Given the description of an element on the screen output the (x, y) to click on. 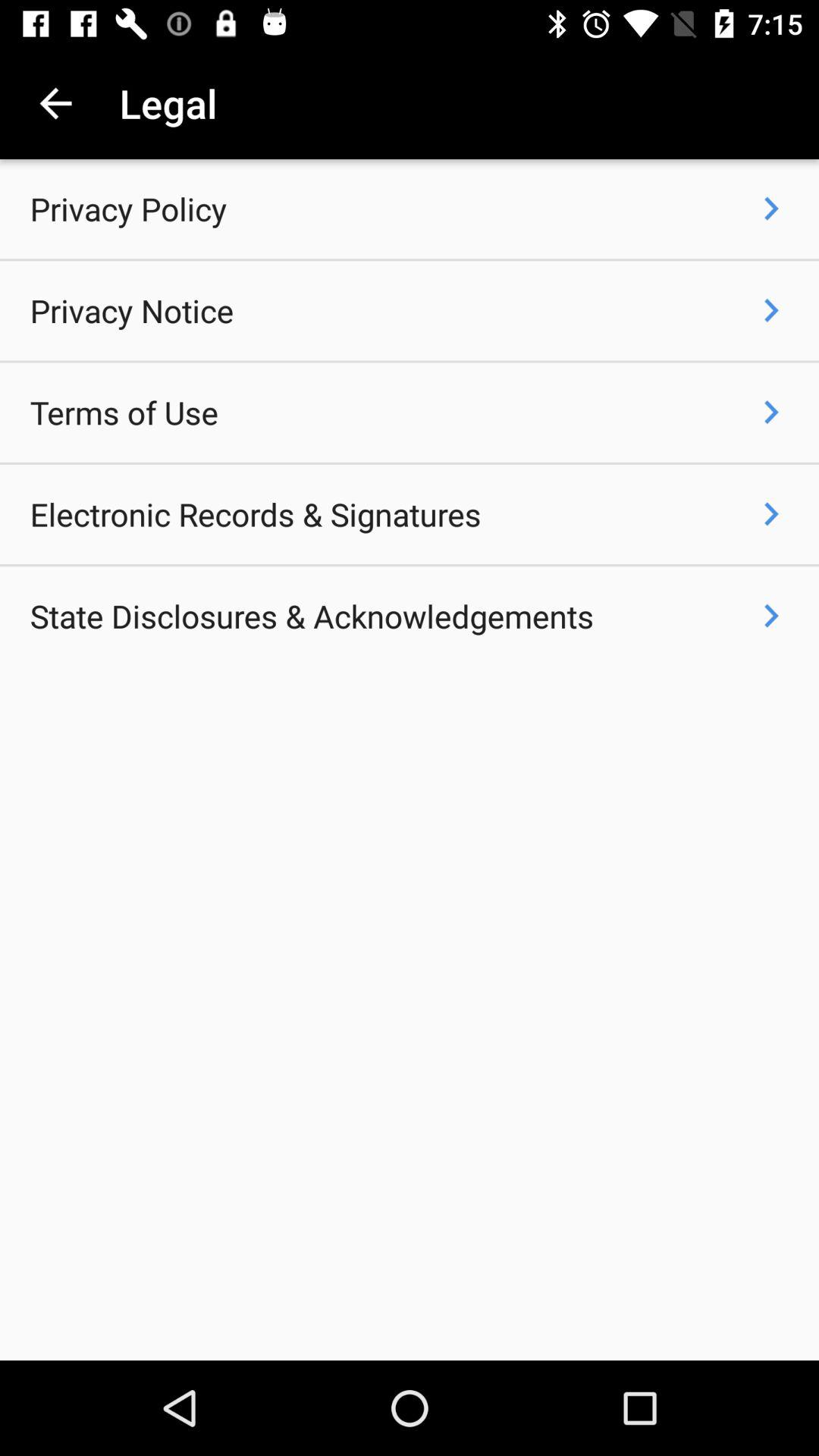
choose item above the privacy policy (55, 103)
